Given the description of an element on the screen output the (x, y) to click on. 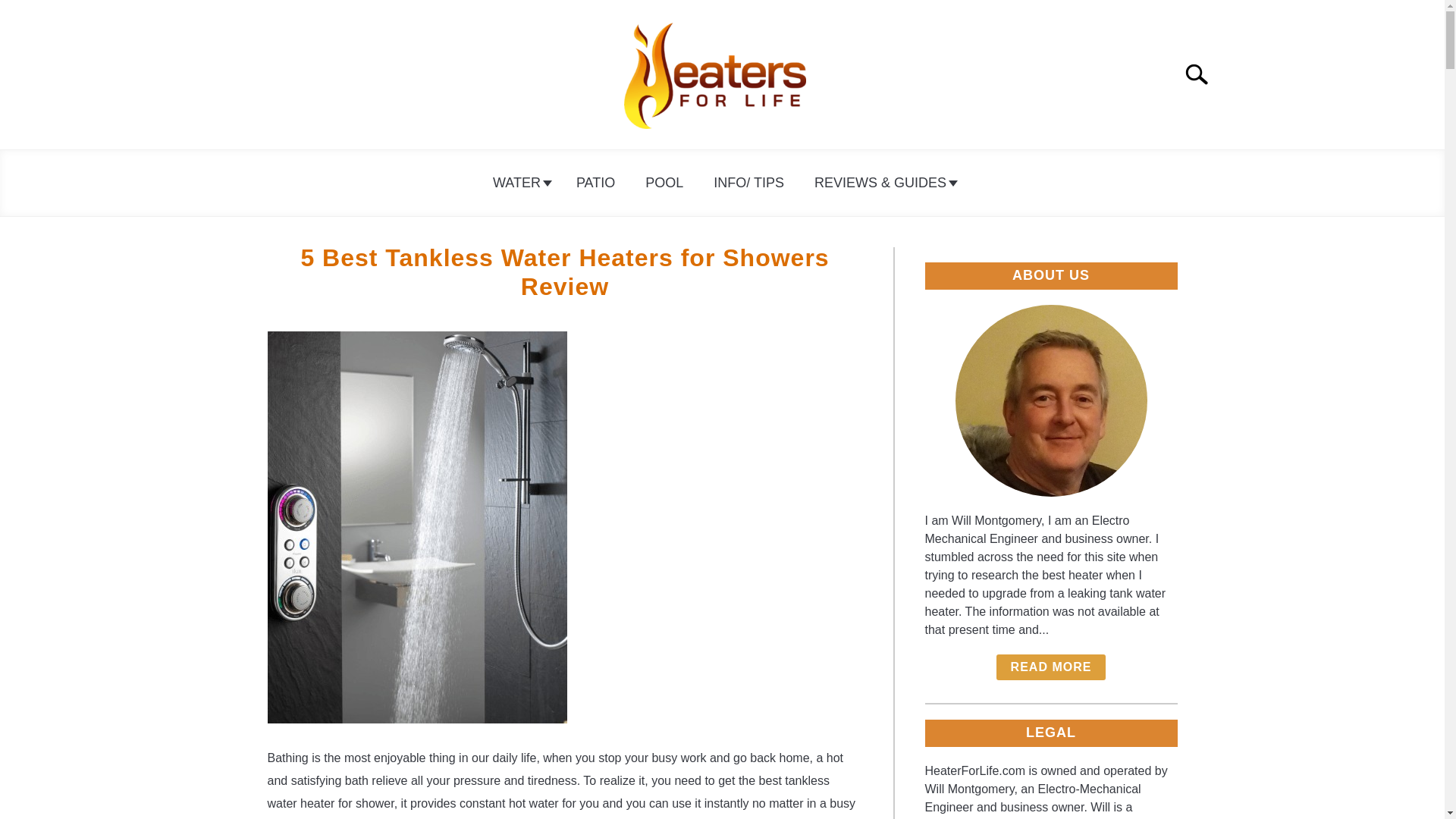
POOL (664, 182)
Search (1203, 73)
WATER (518, 182)
PATIO (595, 182)
